Given the description of an element on the screen output the (x, y) to click on. 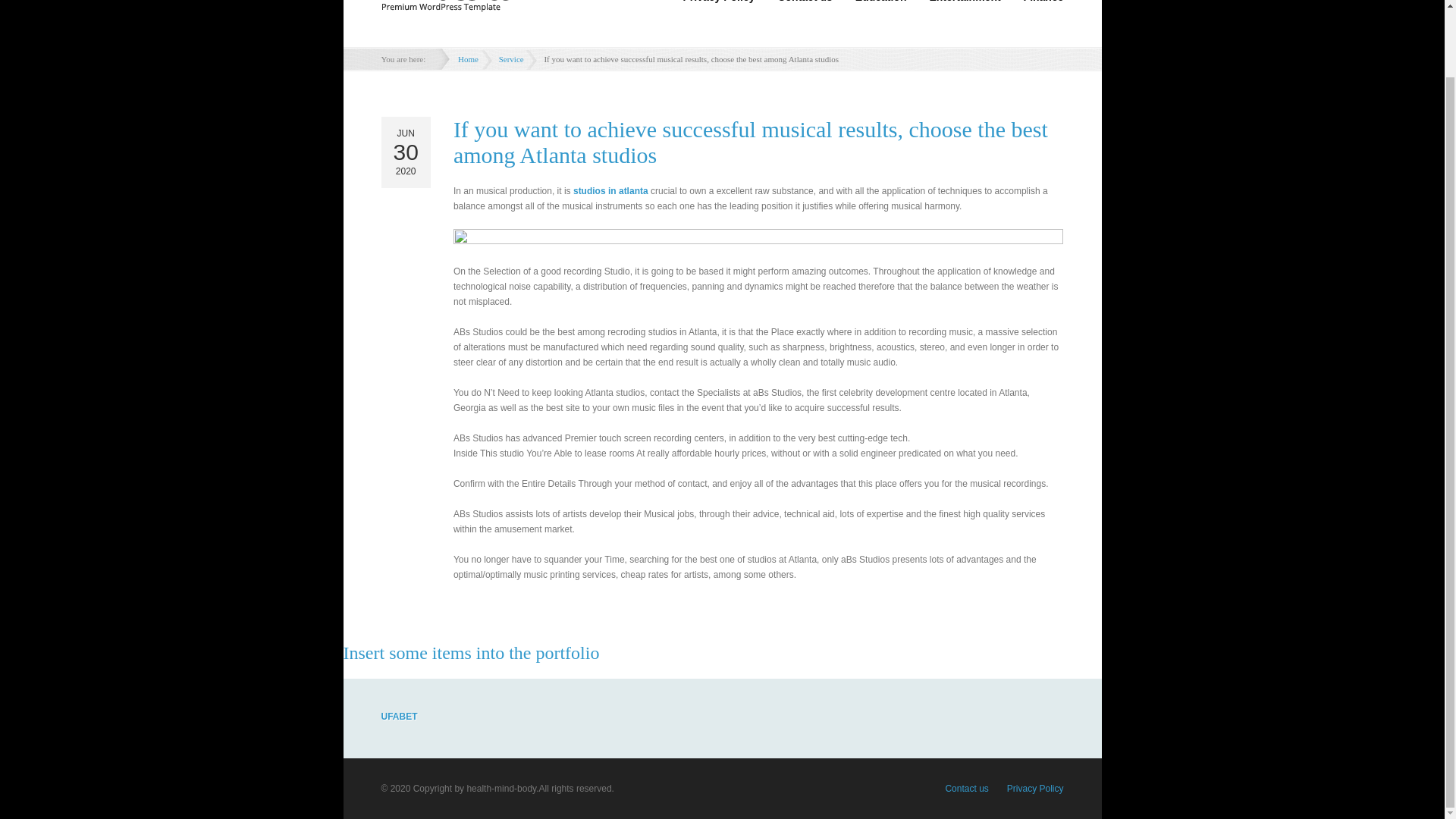
Contact us (804, 5)
studios in atlanta (610, 190)
Entertainment (964, 5)
Home (467, 58)
UFABET (398, 716)
Contact us (966, 787)
Service (510, 58)
Education (881, 5)
